Given the description of an element on the screen output the (x, y) to click on. 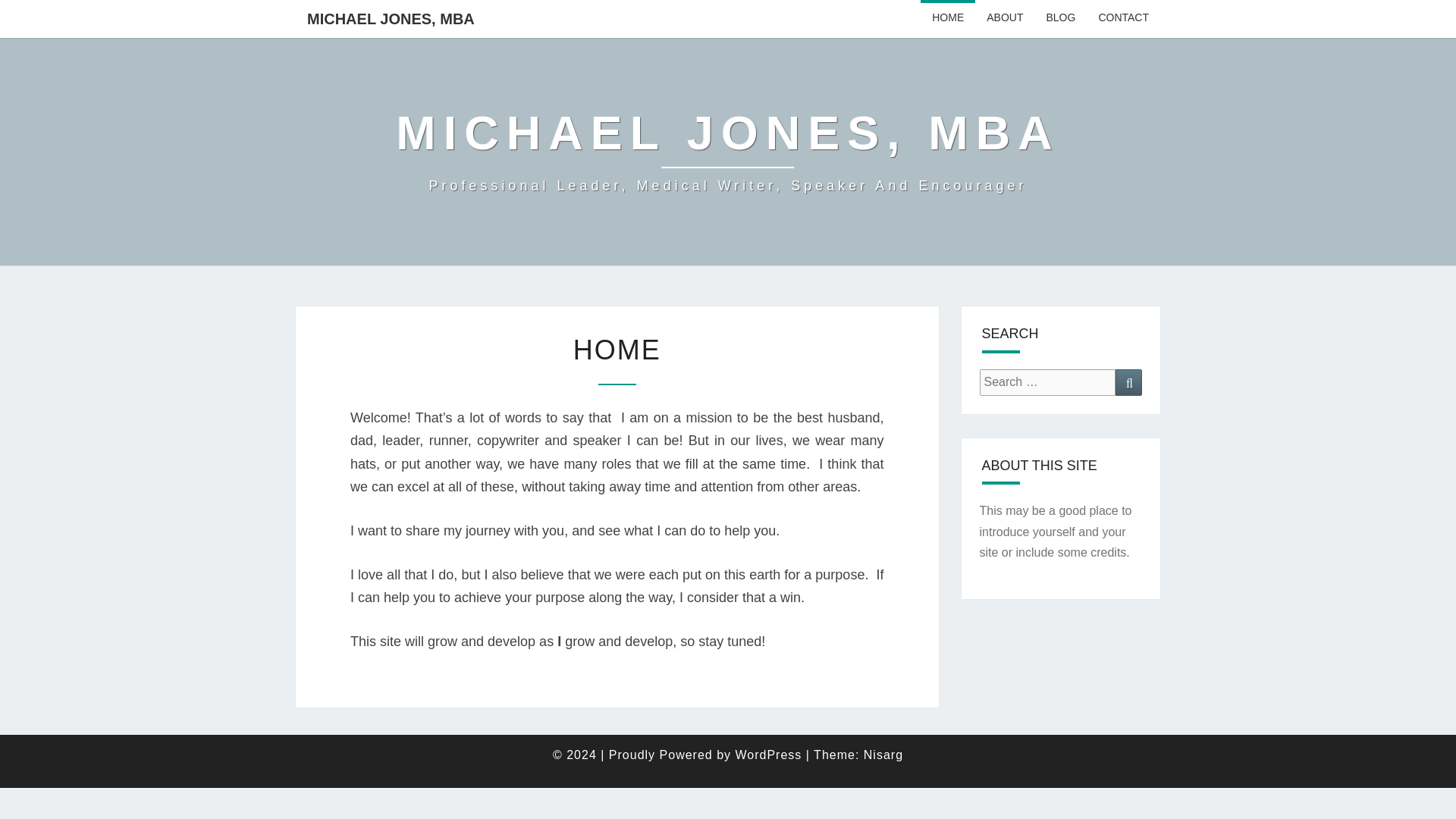
HOME (947, 18)
Nisarg (882, 754)
Michael Jones, MBA (727, 151)
Search (1128, 382)
WordPress (768, 754)
Search for: (1047, 382)
BLOG (1059, 18)
MICHAEL JONES, MBA (390, 18)
CONTACT (1123, 18)
